Given the description of an element on the screen output the (x, y) to click on. 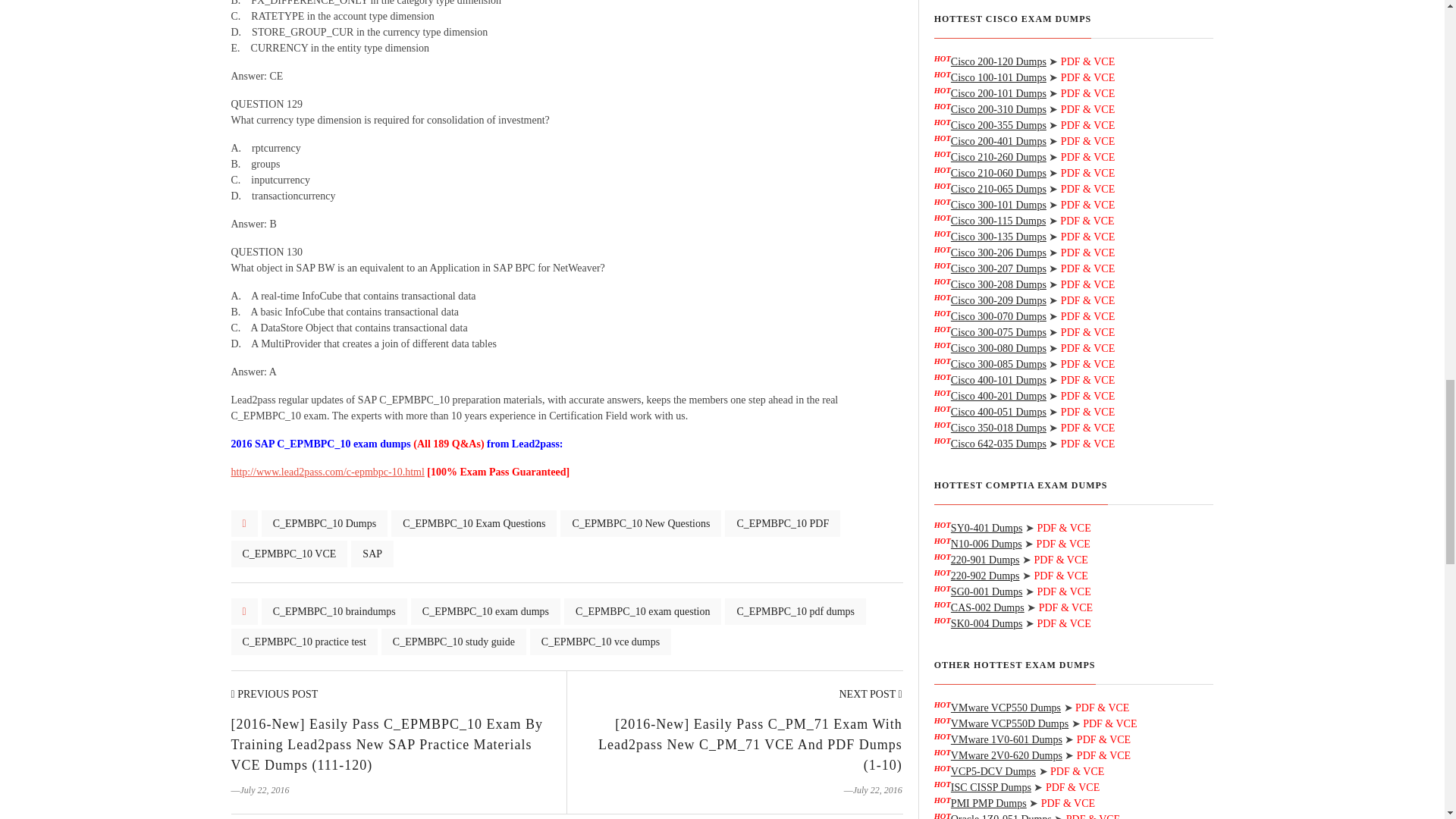
NEXT POST  (869, 694)
 PREVIOUS POST (273, 694)
SAP (371, 553)
